Given the description of an element on the screen output the (x, y) to click on. 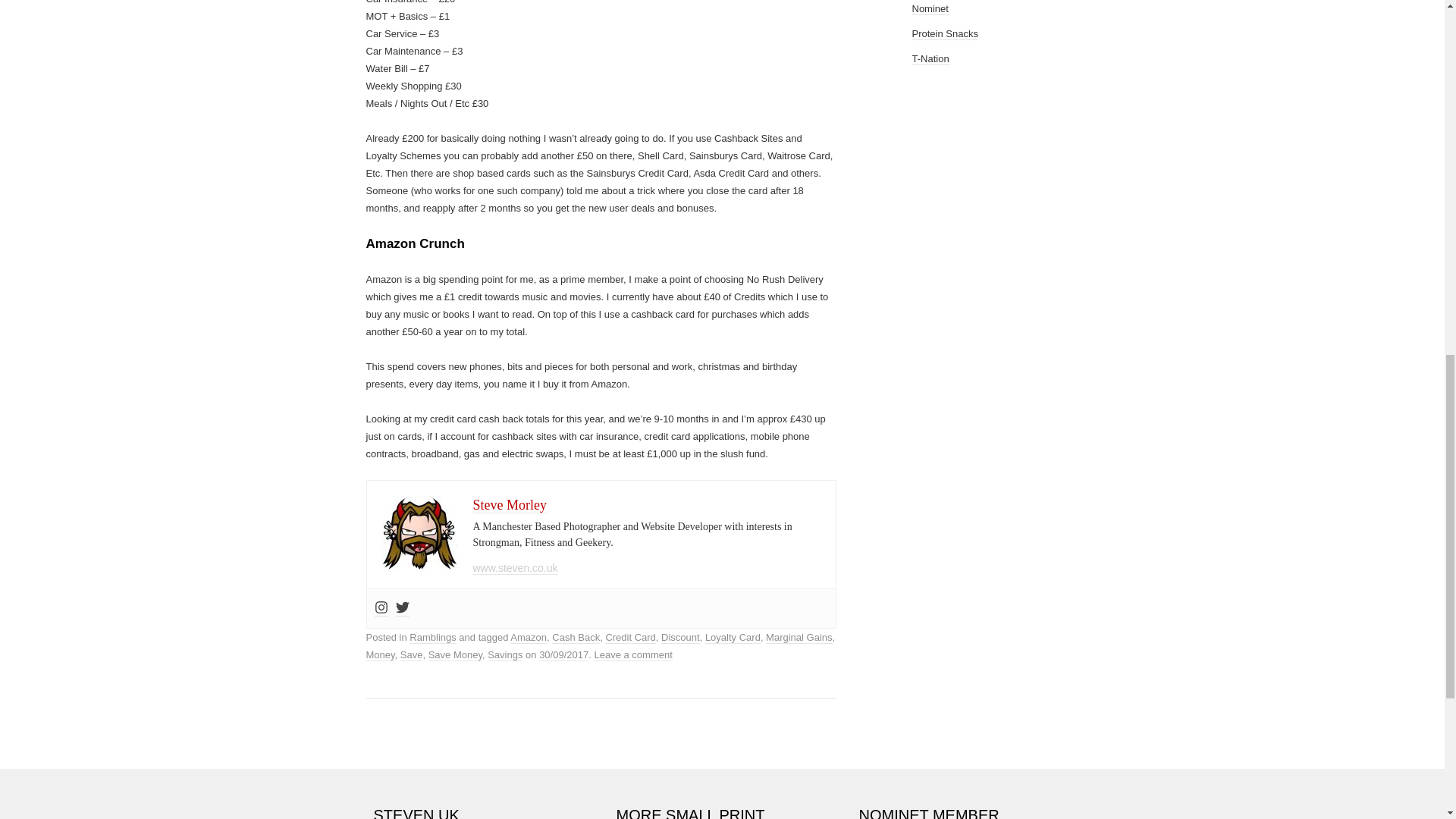
www.steven.co.uk (515, 567)
Save Money (454, 654)
Leave a comment (632, 654)
Money (379, 654)
Amazon (529, 637)
Steve Morley (510, 505)
Marginal Gains (798, 637)
Cash Back (575, 637)
Save (411, 654)
Discount (680, 637)
